Given the description of an element on the screen output the (x, y) to click on. 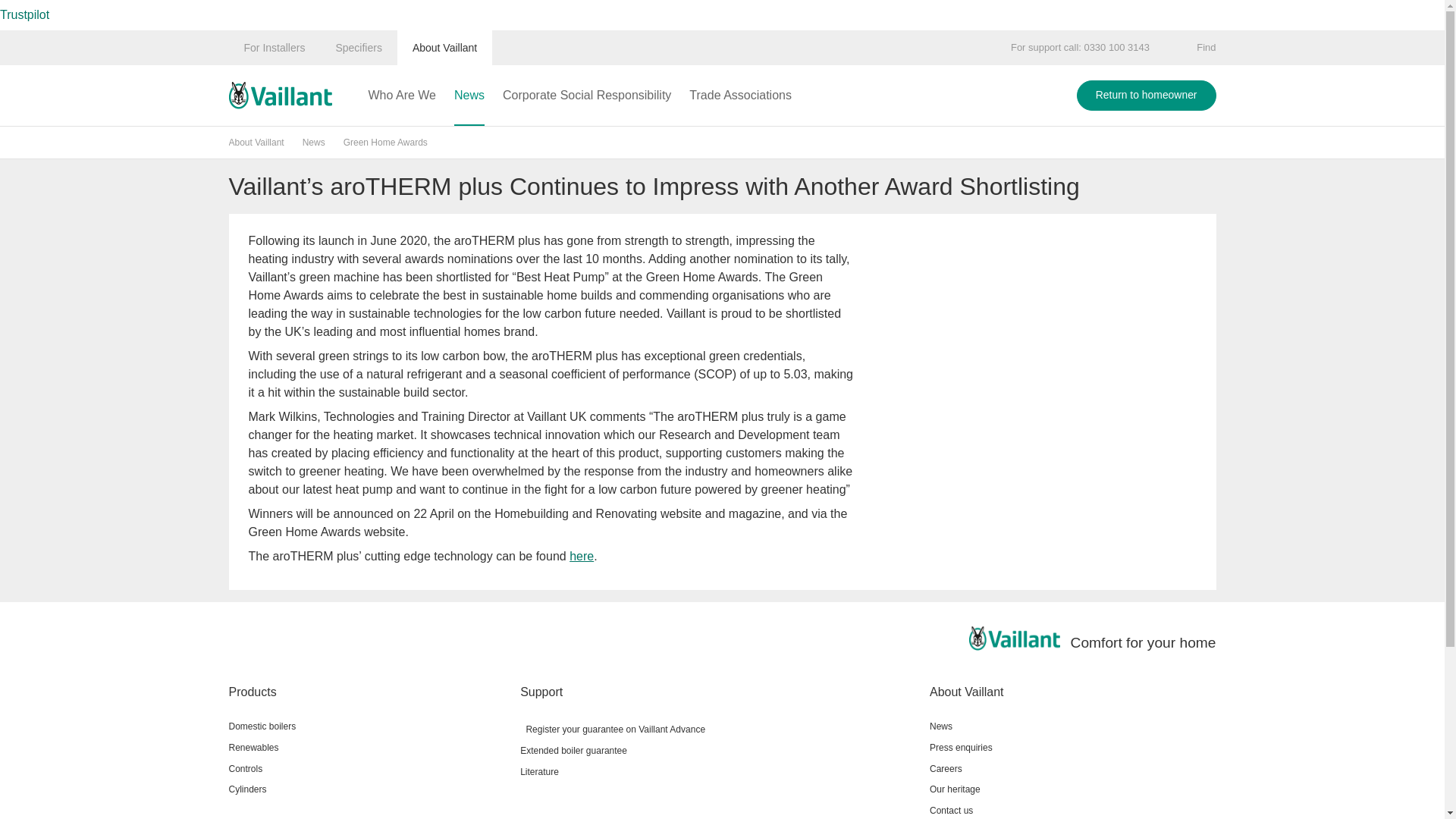
About Vaillant (255, 142)
Support (718, 691)
Products (368, 691)
Careers (1072, 768)
Trade Associations (740, 95)
For Installers (274, 47)
Our heritage (1072, 789)
Domestic boilers (368, 726)
Green Home Awards (385, 142)
About Vaillant (444, 47)
